Given the description of an element on the screen output the (x, y) to click on. 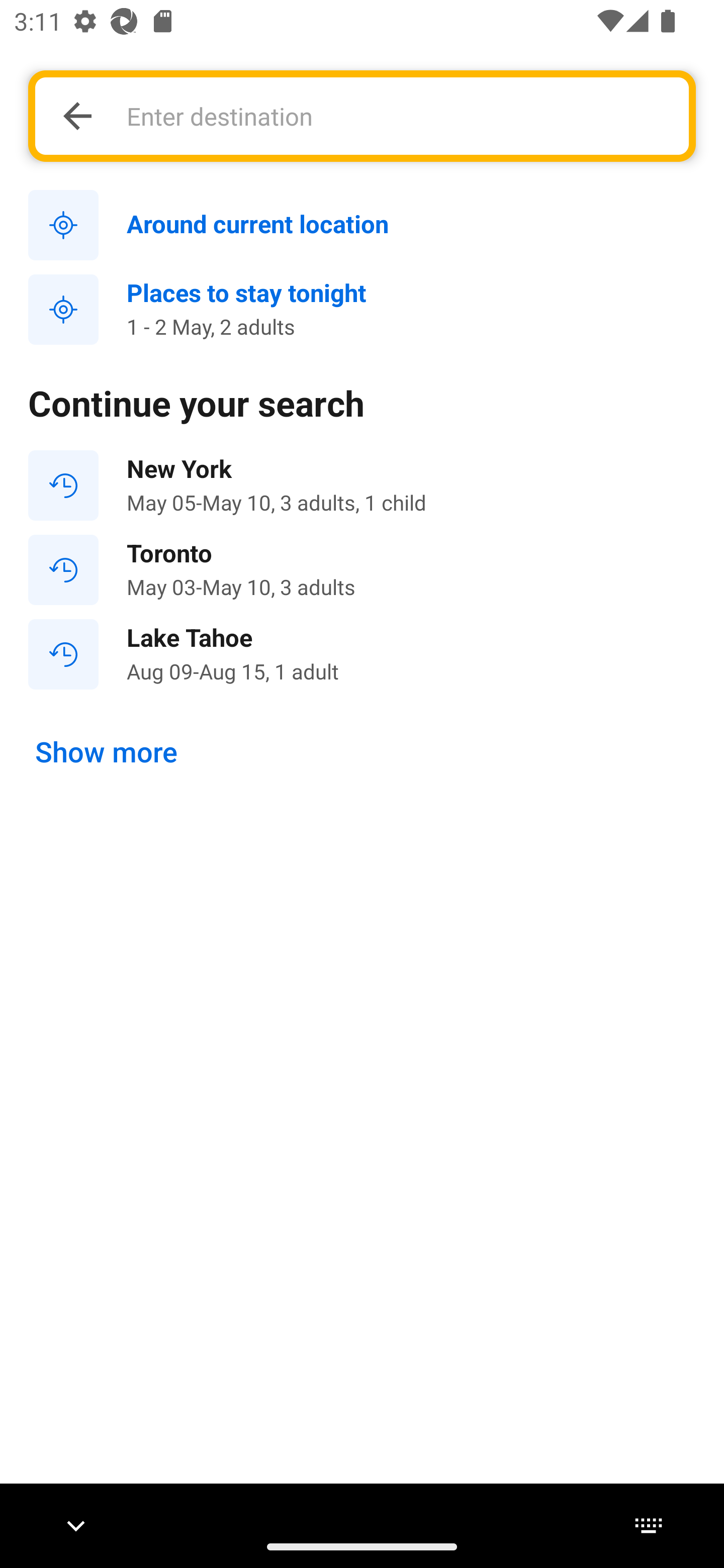
Enter destination (396, 115)
Around current location (362, 225)
Places to stay tonight 1 - 2 May, 2 adults (362, 309)
New York May 05-May 10, 3 adults, 1 child (362, 485)
Toronto May 03-May 10, 3 adults  (362, 569)
Lake Tahoe Aug 09-Aug 15, 1 adult  (362, 653)
Show more (106, 752)
